Given the description of an element on the screen output the (x, y) to click on. 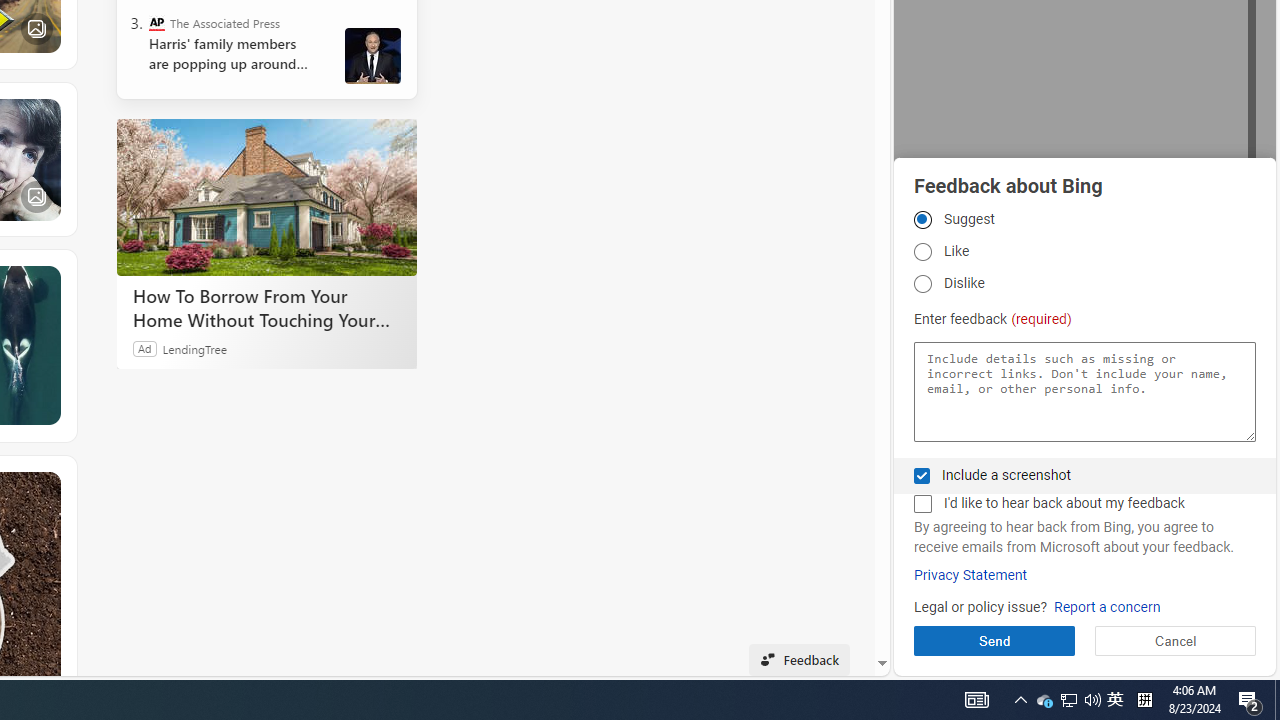
Report a concern (1106, 607)
Suggest Suggest (922, 219)
Privacy Statement (970, 575)
Like Like (922, 251)
Include a screenshot Include a screenshot (921, 475)
Send (994, 640)
Cancel (1174, 640)
Dislike Dislike (922, 284)
